Given the description of an element on the screen output the (x, y) to click on. 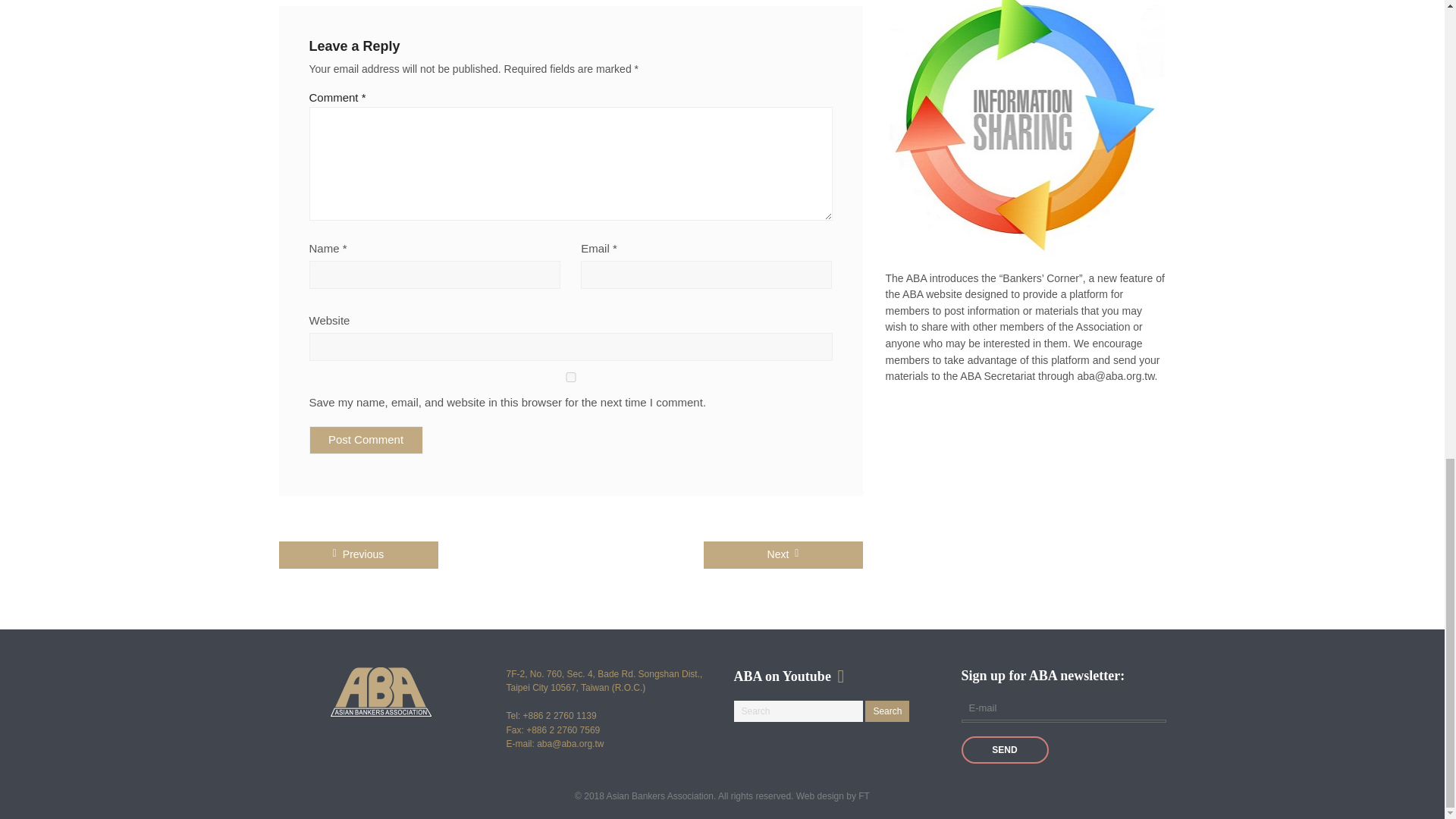
Previous (358, 554)
yes (570, 377)
Post Comment (365, 439)
Next (783, 554)
Search (886, 711)
Send (1004, 749)
Post Comment (365, 439)
